Given the description of an element on the screen output the (x, y) to click on. 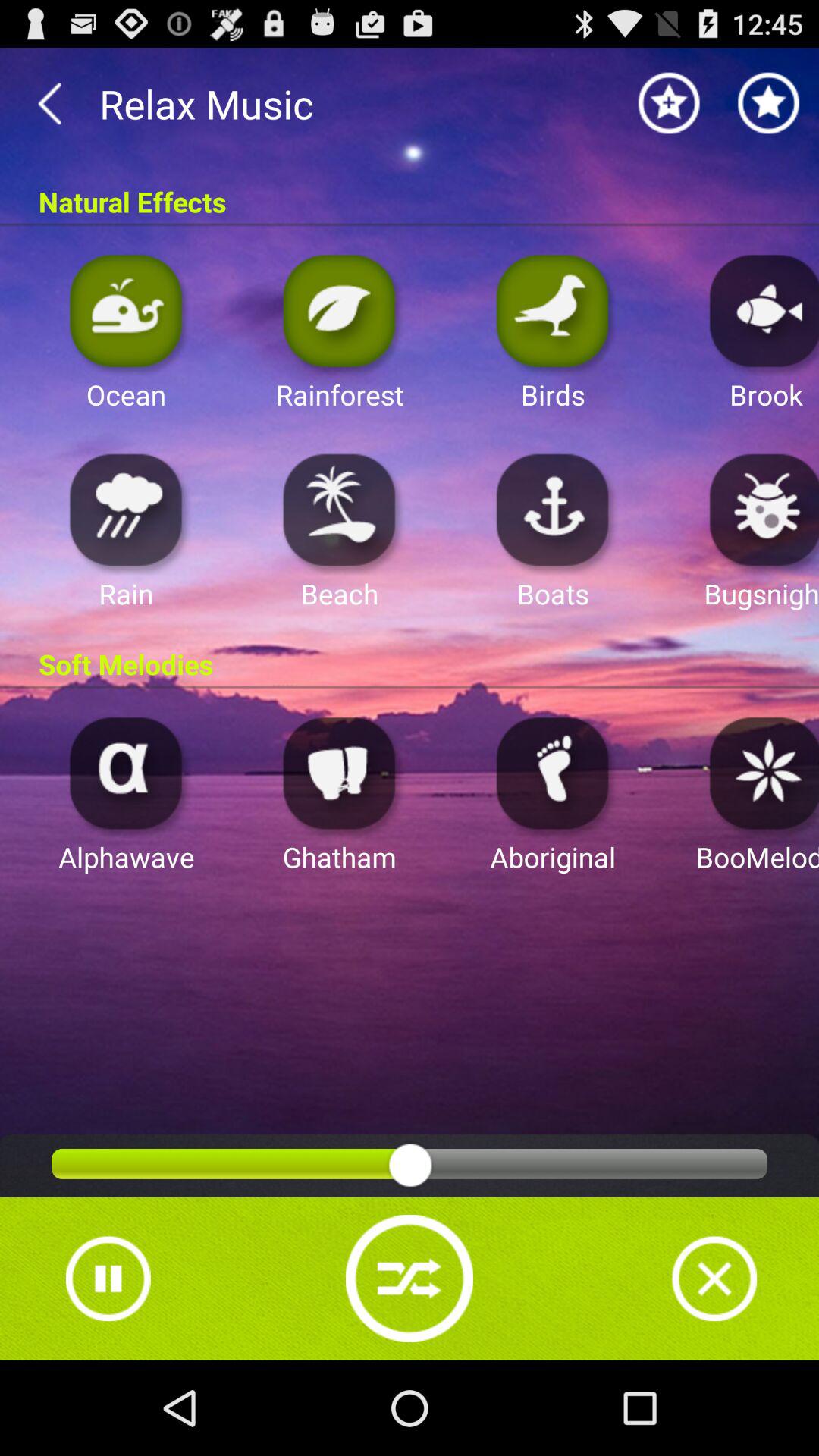
select the beach button (339, 509)
